Given the description of an element on the screen output the (x, y) to click on. 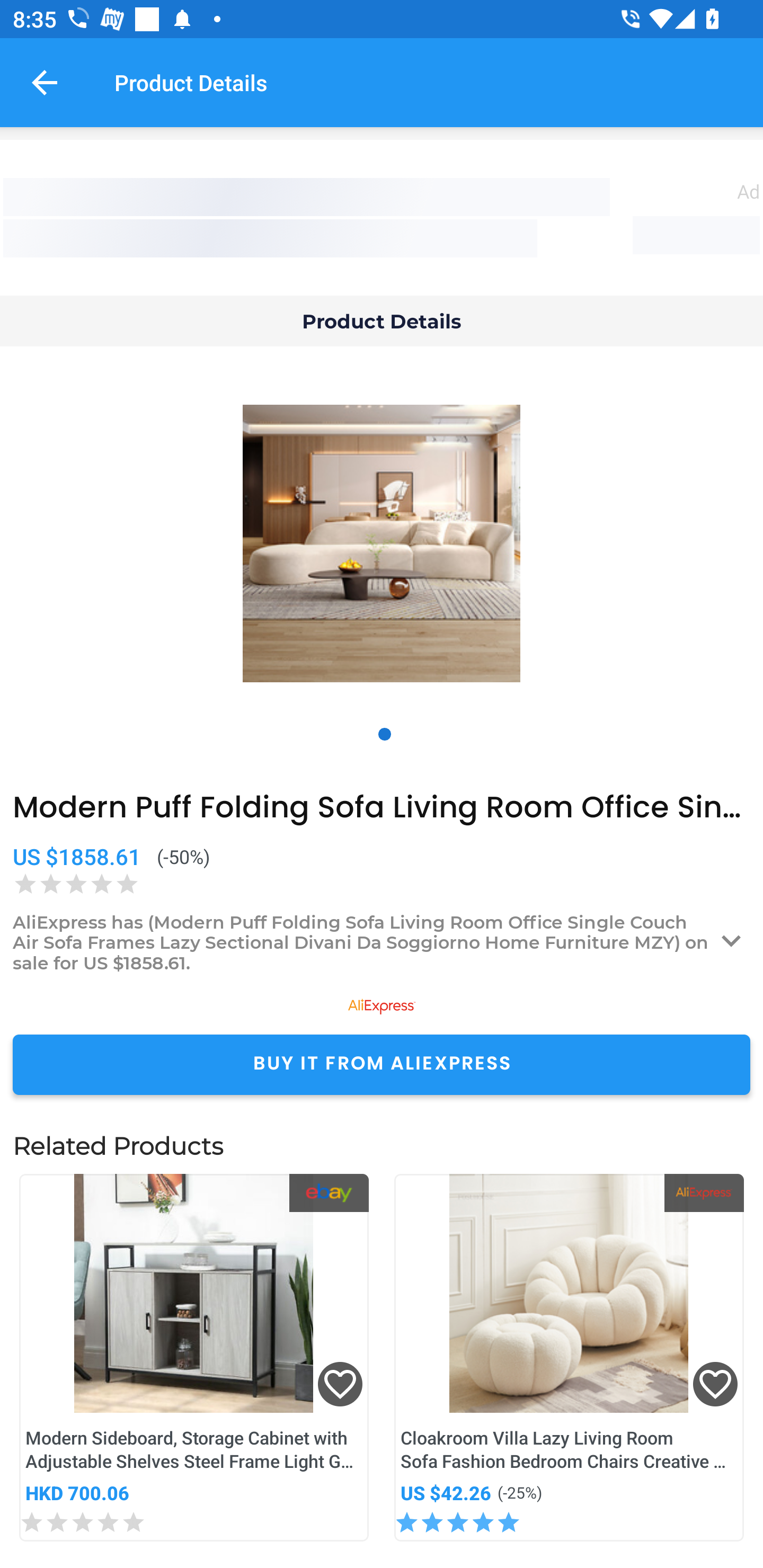
Navigate up (44, 82)
BUY IT FROM ALIEXPRESS (381, 1064)
